Given the description of an element on the screen output the (x, y) to click on. 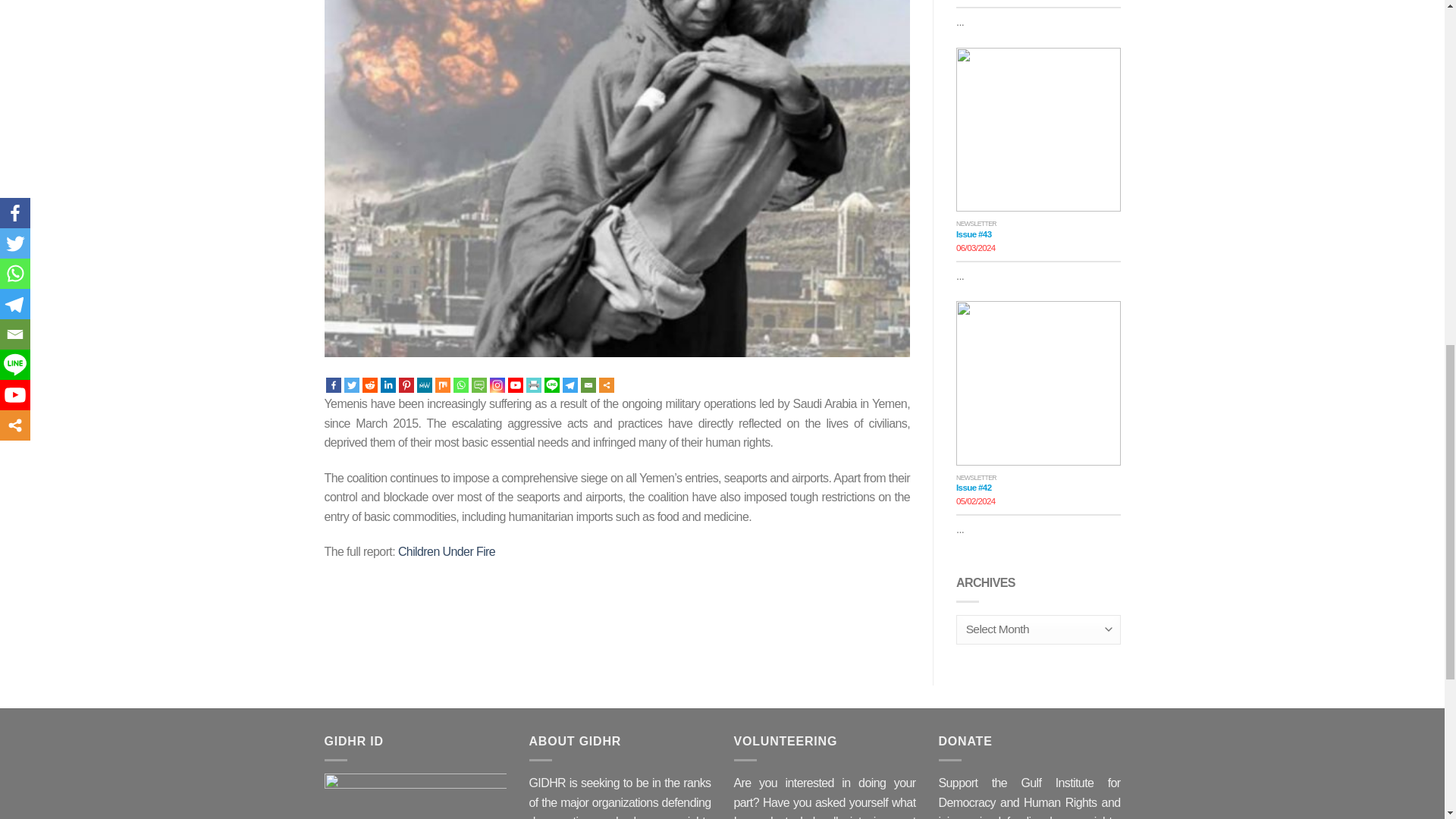
Reddit (369, 385)
Twitter (351, 385)
Facebook (333, 385)
Linkedin (388, 385)
